Given the description of an element on the screen output the (x, y) to click on. 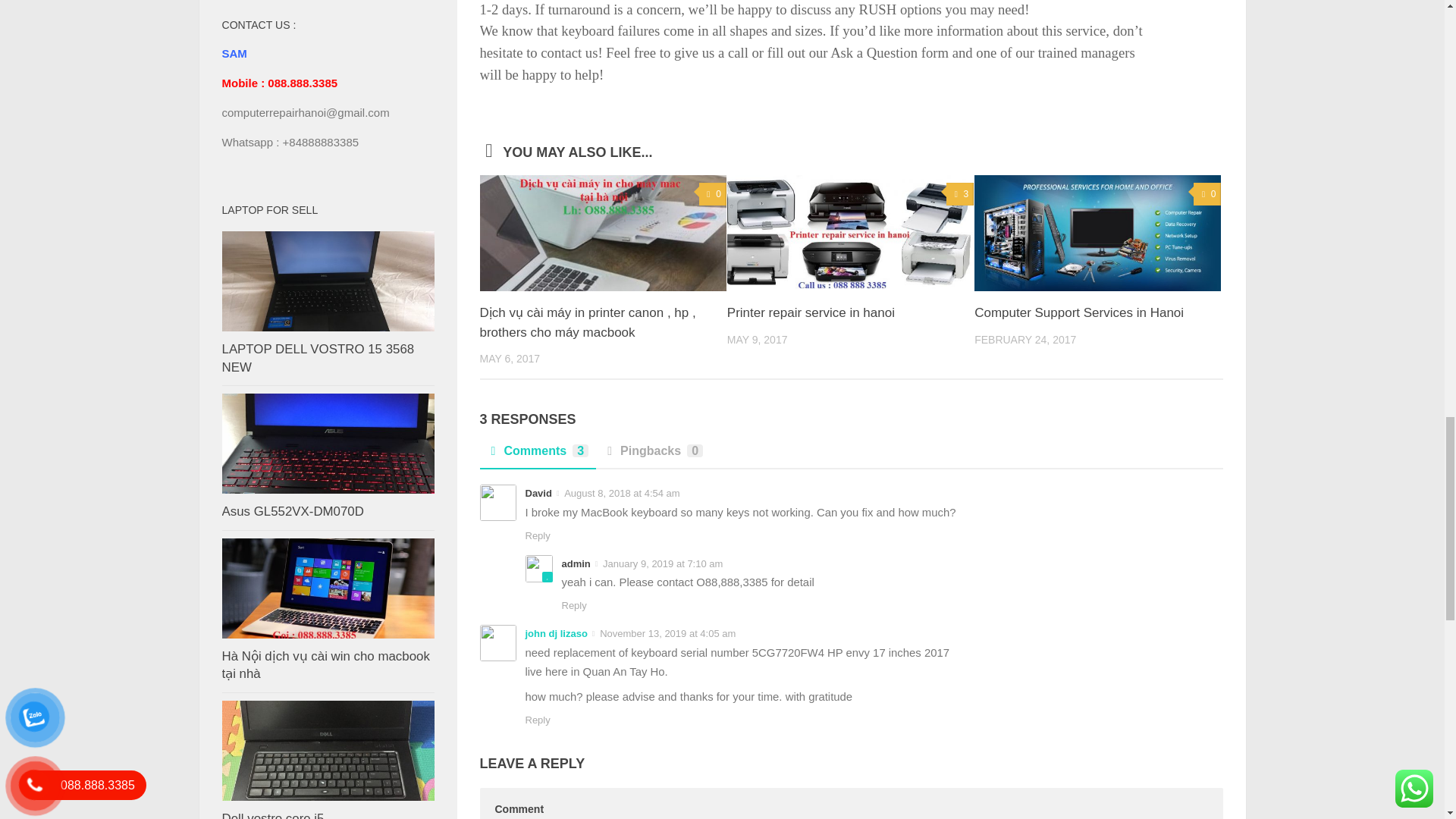
0 (712, 194)
3 (960, 194)
Pingbacks0 (652, 455)
Printer repair service in hanoi (810, 312)
Printer repair service in hanoi (850, 233)
Comments3 (537, 455)
Reply (537, 535)
Computer Support Services in Hanoi (1078, 312)
Computer Support Services in Hanoi (1078, 312)
Computer Support Services in Hanoi (1097, 233)
0 (1207, 194)
Printer repair service in hanoi (810, 312)
August 8, 2018 at 4:54 am (621, 492)
January 9, 2019 at 7:10 am (662, 563)
